Given the description of an element on the screen output the (x, y) to click on. 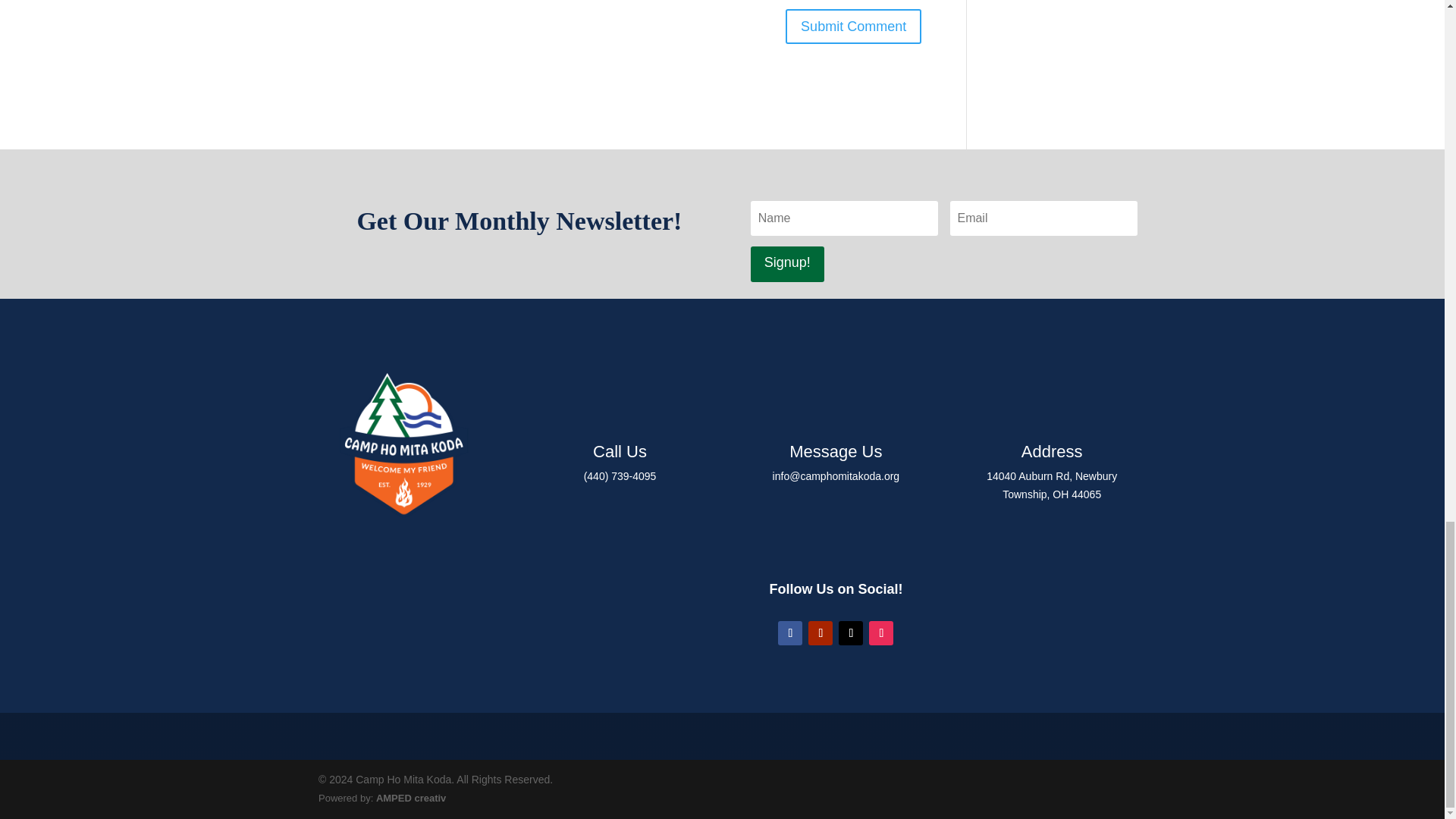
Submit Comment (853, 26)
